Given the description of an element on the screen output the (x, y) to click on. 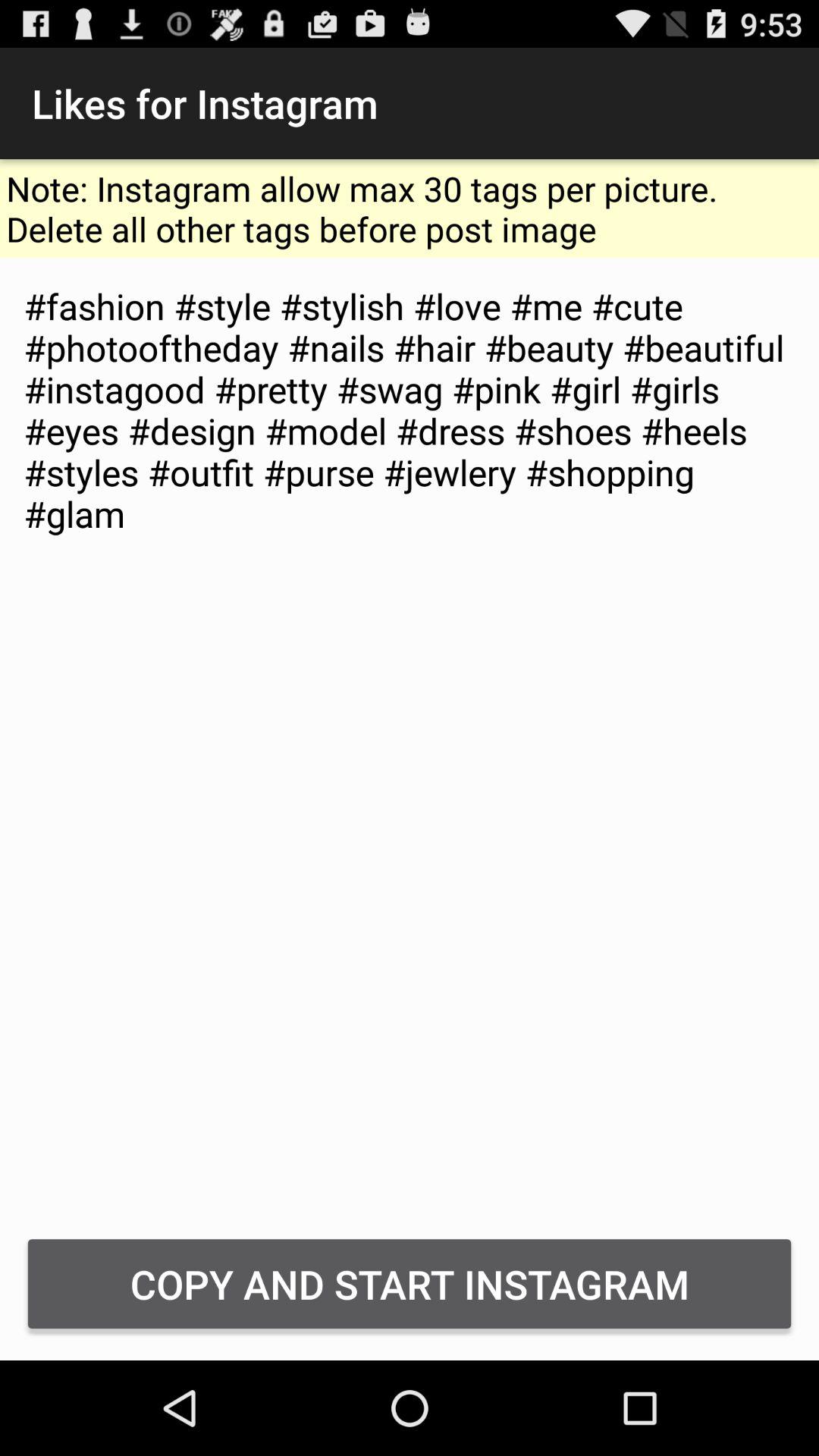
scroll until the copy and start icon (409, 1283)
